Given the description of an element on the screen output the (x, y) to click on. 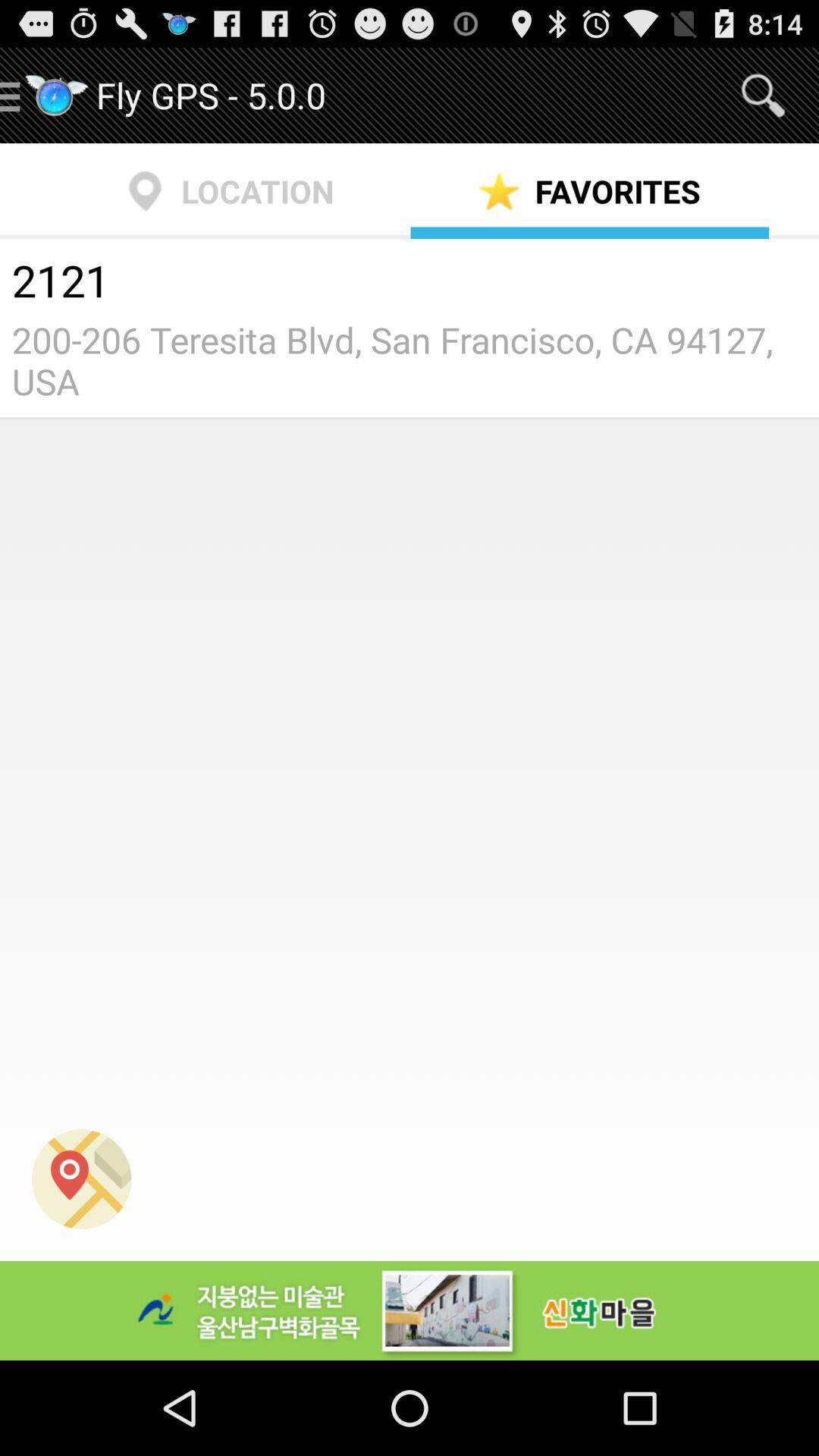
launch the icon at the bottom left corner (81, 1179)
